Given the description of an element on the screen output the (x, y) to click on. 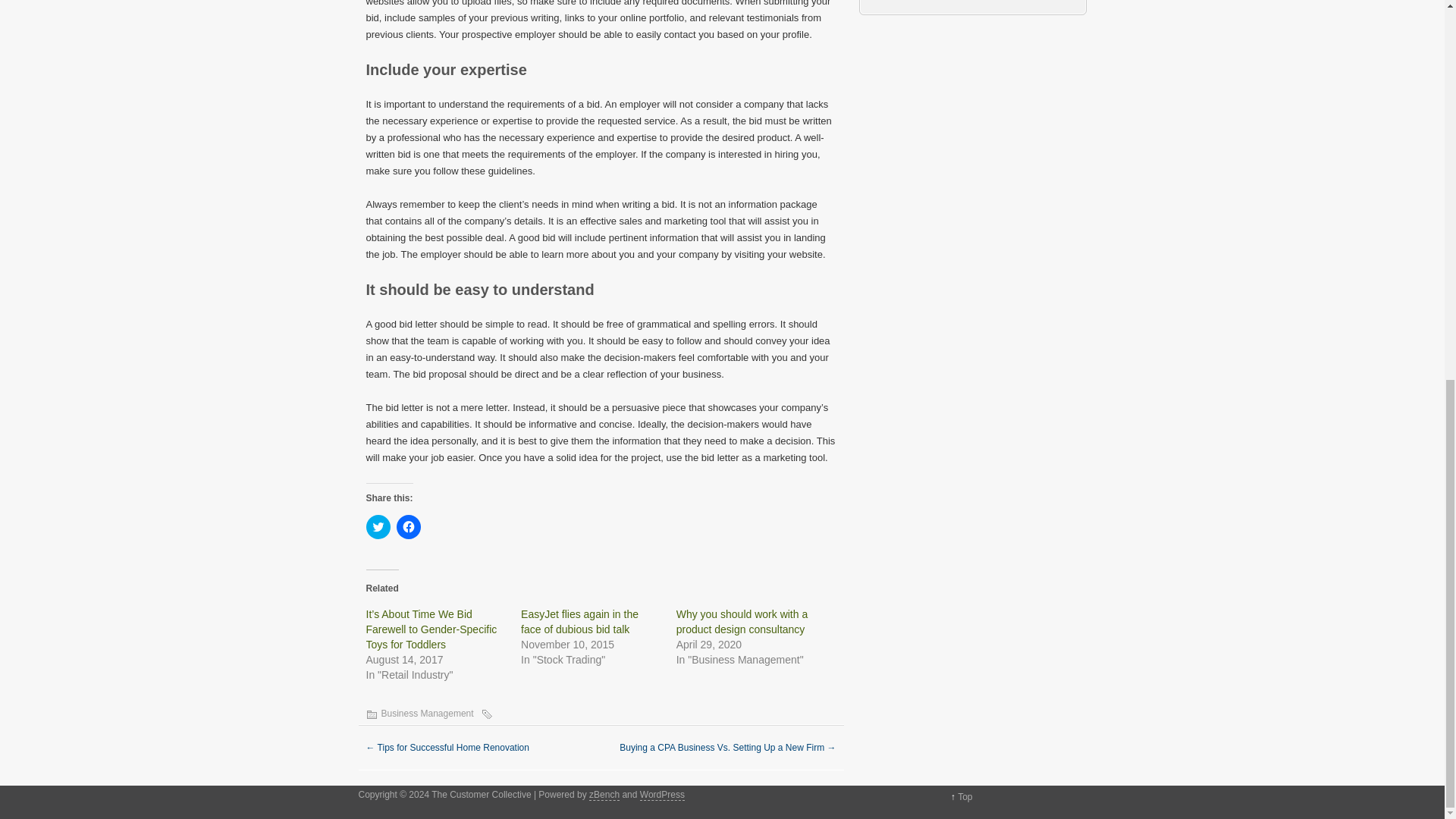
Click to share on Twitter (377, 526)
EasyJet flies again in the face of dubious bid talk (580, 621)
Why you should work with a product design consultancy (742, 621)
Click to share on Facebook (408, 526)
Back to top (965, 796)
Why you should work with a product design consultancy (742, 621)
EasyJet flies again in the face of dubious bid talk (580, 621)
Business Management (426, 713)
